Given the description of an element on the screen output the (x, y) to click on. 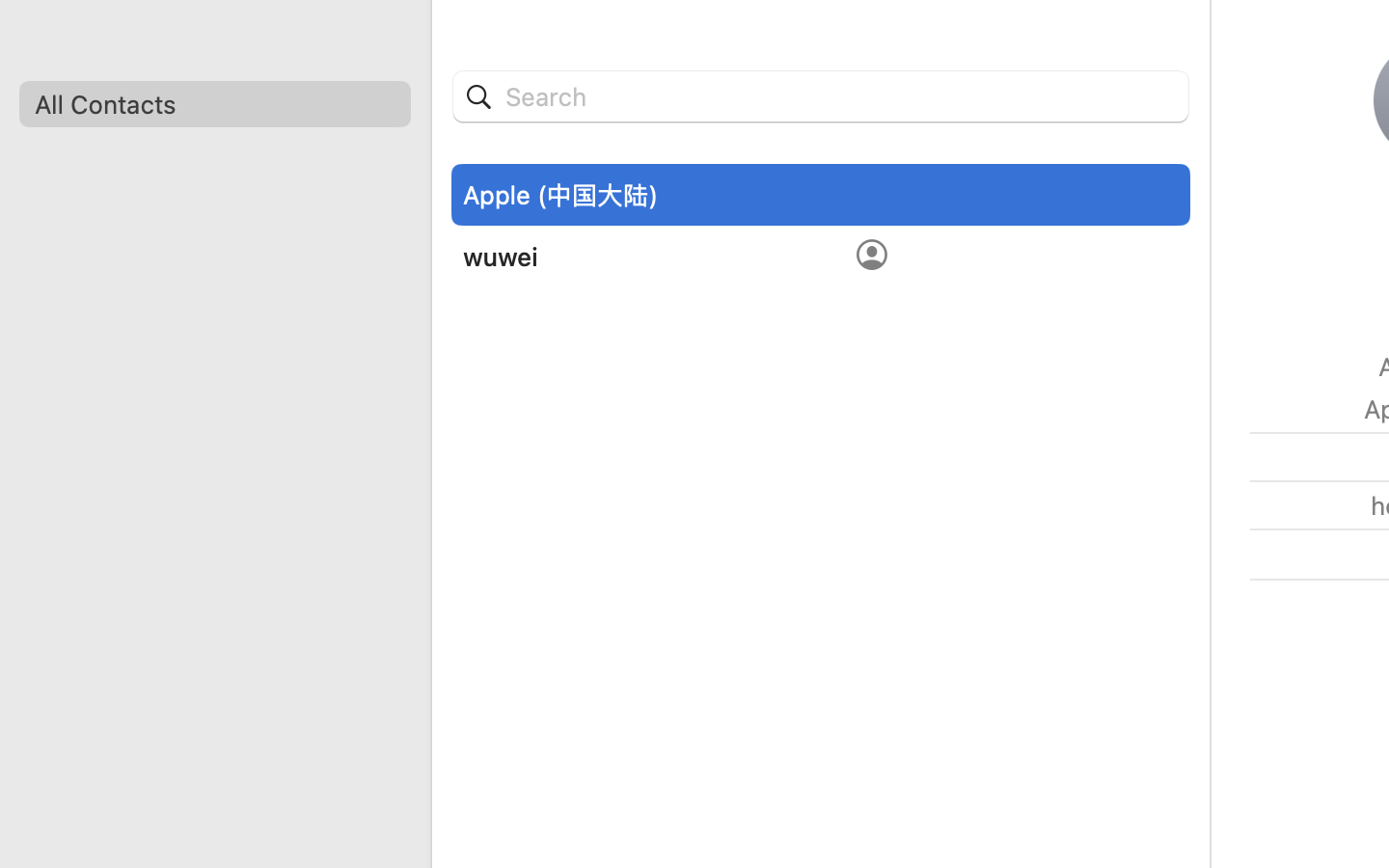
wuwei Element type: AXStaticText (500, 256)
All Contacts Element type: AXStaticText (214, 103)
Apple (中国大陆) Element type: AXStaticText (560, 194)
